Given the description of an element on the screen output the (x, y) to click on. 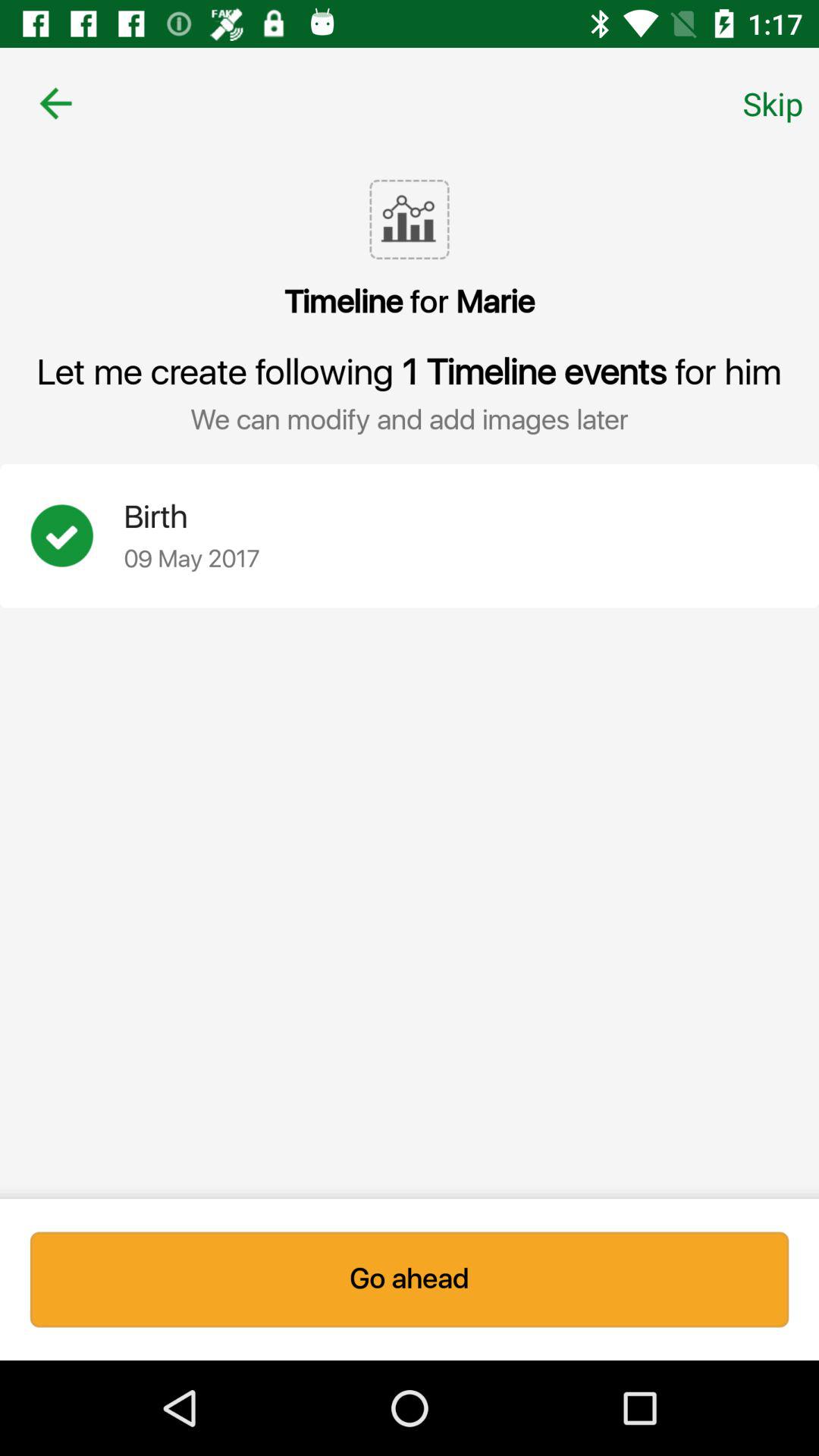
toggle create event option (76, 535)
